Given the description of an element on the screen output the (x, y) to click on. 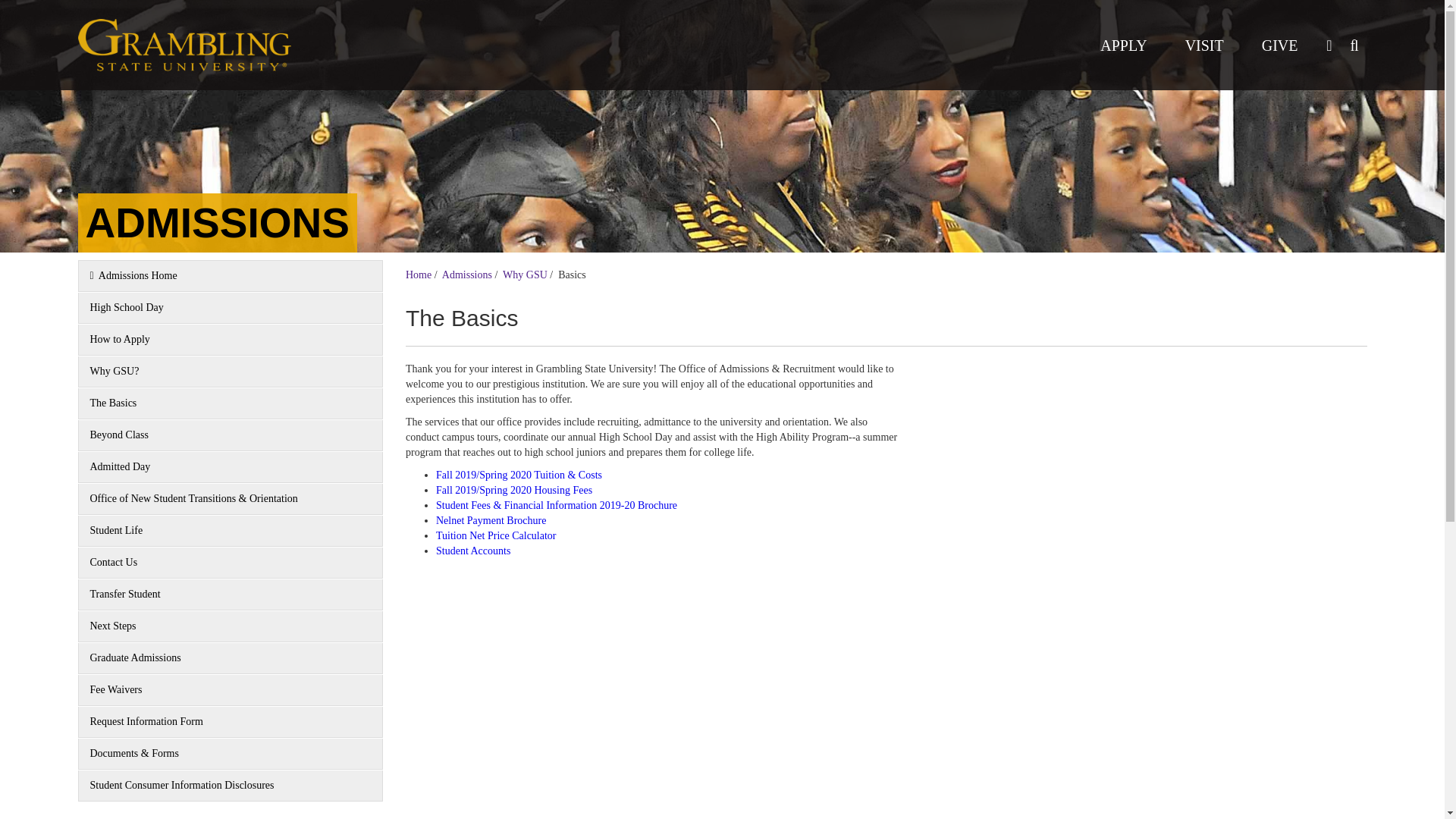
GIVE (1279, 45)
APPLY (1123, 45)
Dropdown Menu (1353, 45)
Dropdown Menu Toggle (1329, 45)
VISIT (1203, 45)
